Given the description of an element on the screen output the (x, y) to click on. 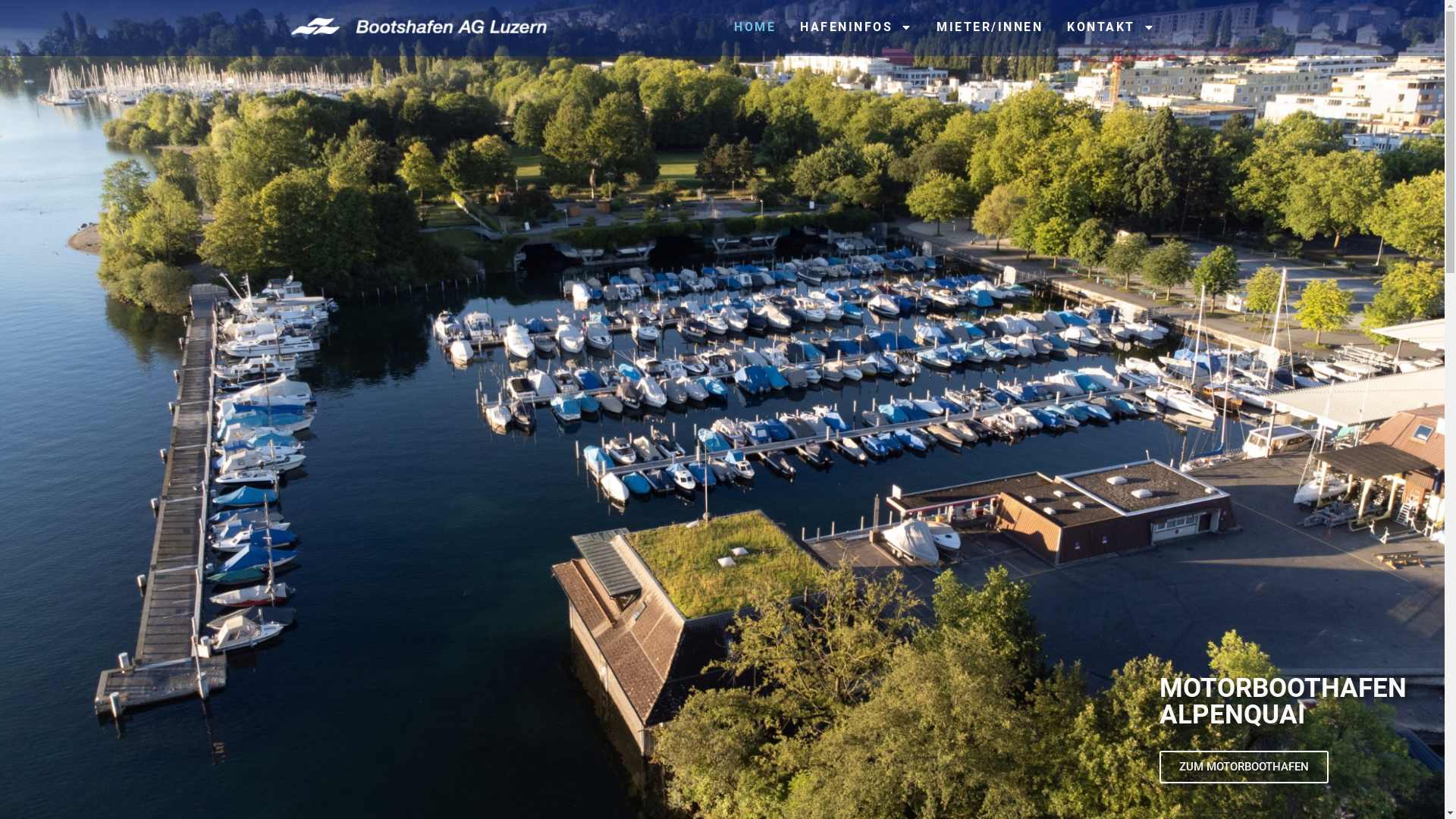
HAFENINFOS Element type: text (856, 27)
MIETER/INNEN Element type: text (989, 27)
HOME Element type: text (754, 27)
KONTAKT Element type: text (1110, 27)
